Given the description of an element on the screen output the (x, y) to click on. 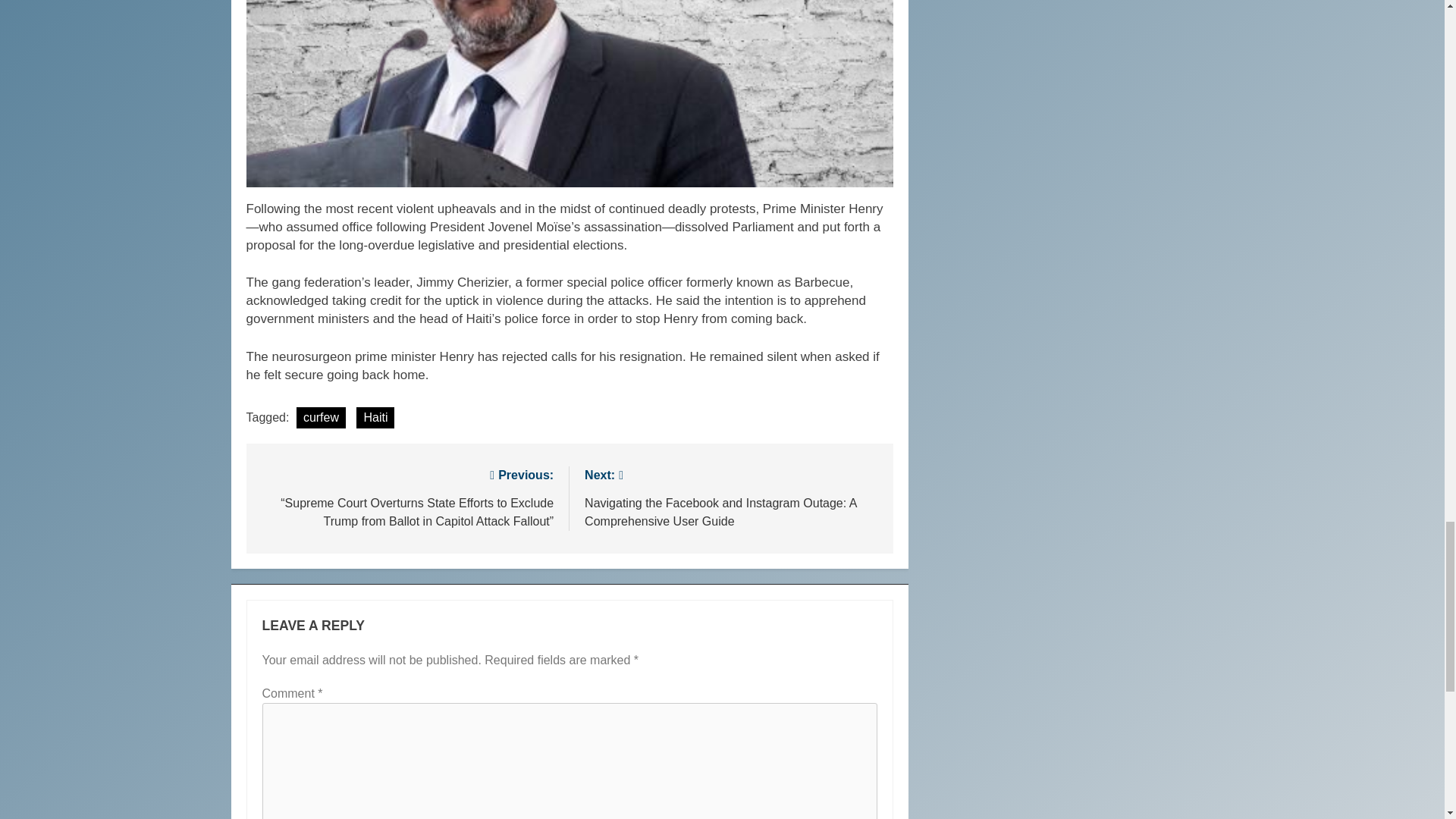
Haiti (375, 417)
curfew (321, 417)
